Given the description of an element on the screen output the (x, y) to click on. 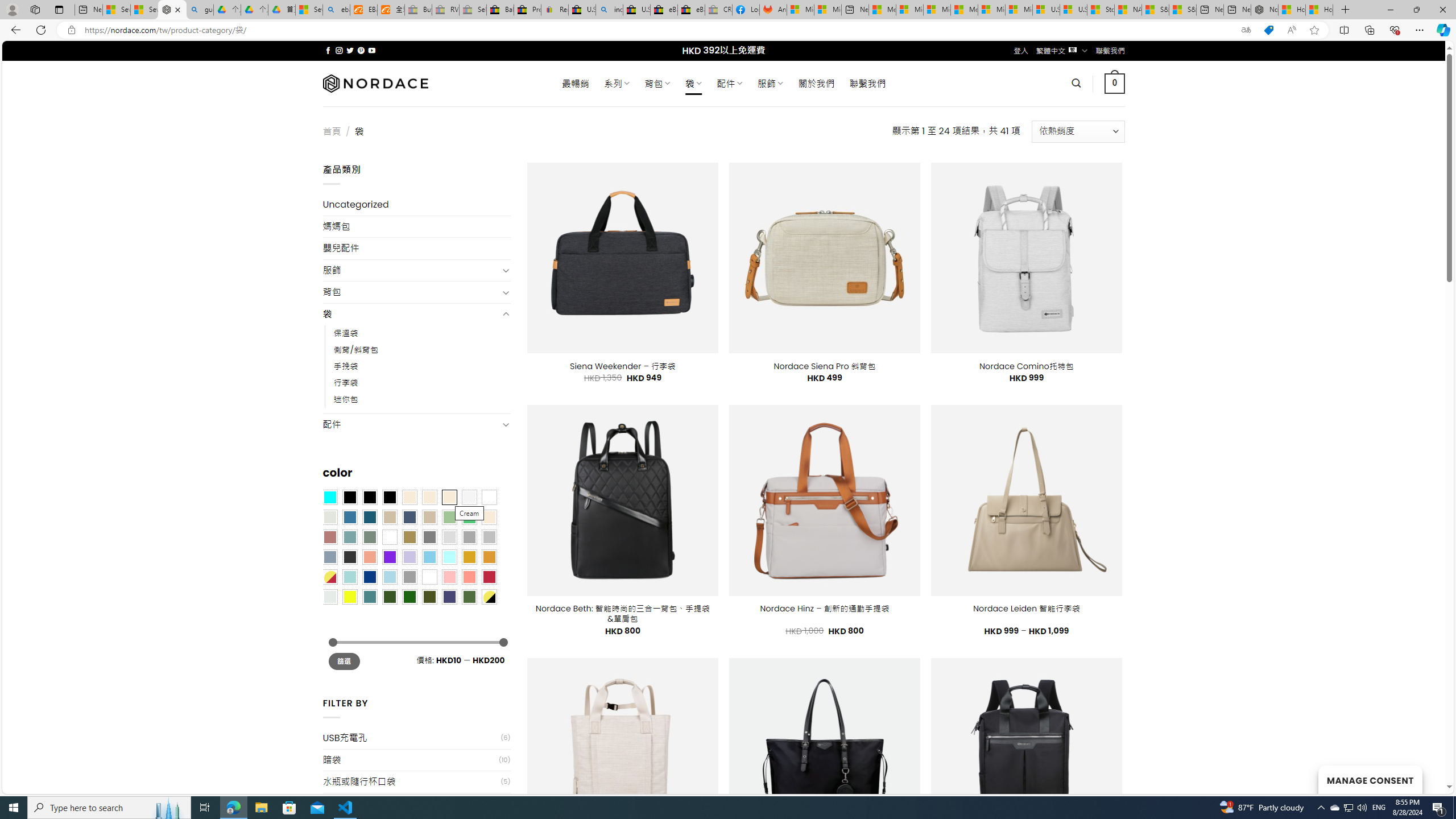
Follow on Pinterest (360, 50)
Buy Auto Parts & Accessories | eBay - Sleeping (418, 9)
Uncategorized (416, 204)
including - Search (609, 9)
Microsoft account | Home (936, 9)
